Given the description of an element on the screen output the (x, y) to click on. 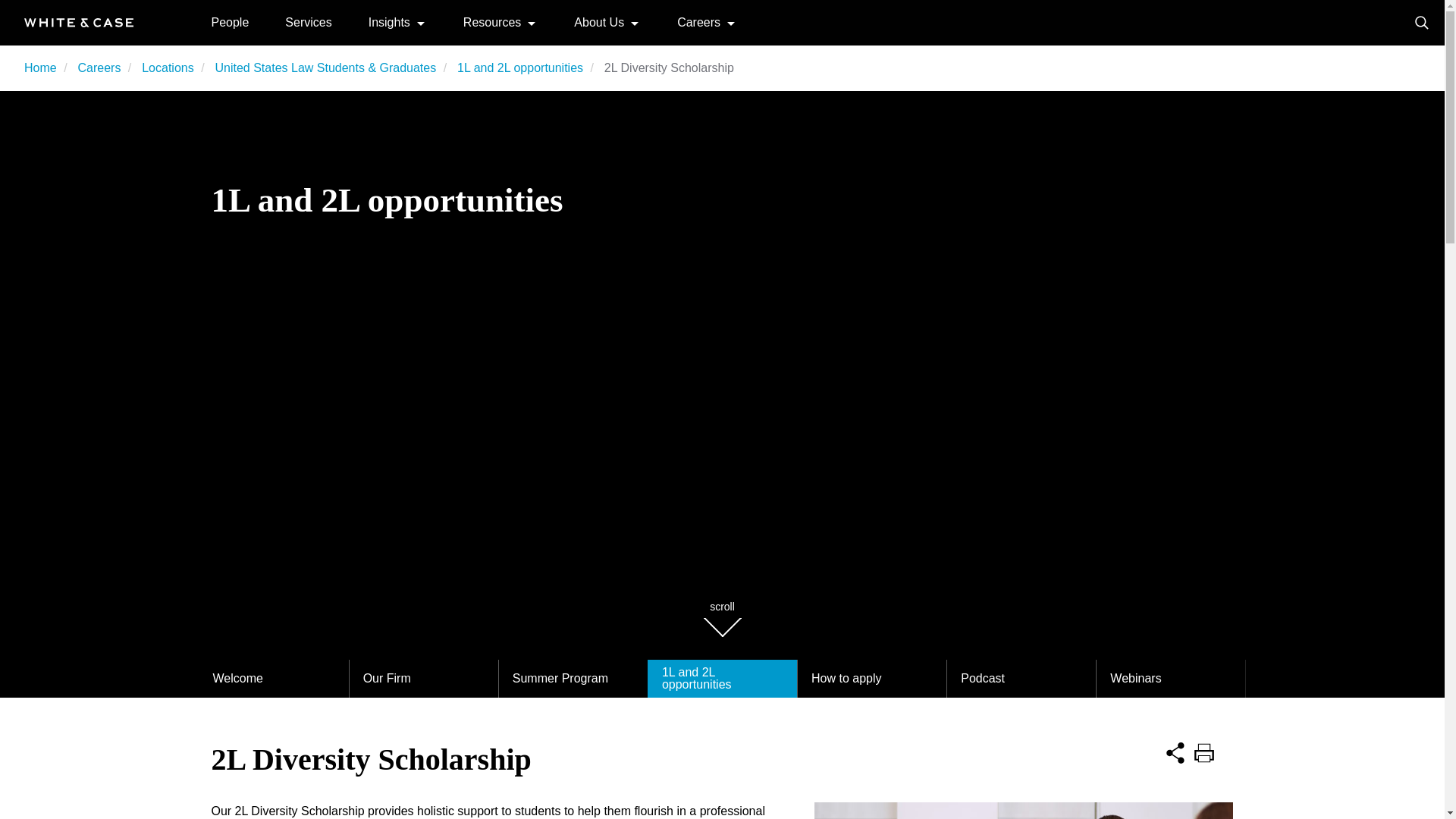
Resources (492, 21)
Insights (389, 21)
Services (308, 21)
About Us (598, 21)
1L and 2L opportunities (520, 67)
People (229, 21)
Careers (98, 67)
Careers (698, 21)
Home (40, 67)
Our Firm (423, 678)
